Given the description of an element on the screen output the (x, y) to click on. 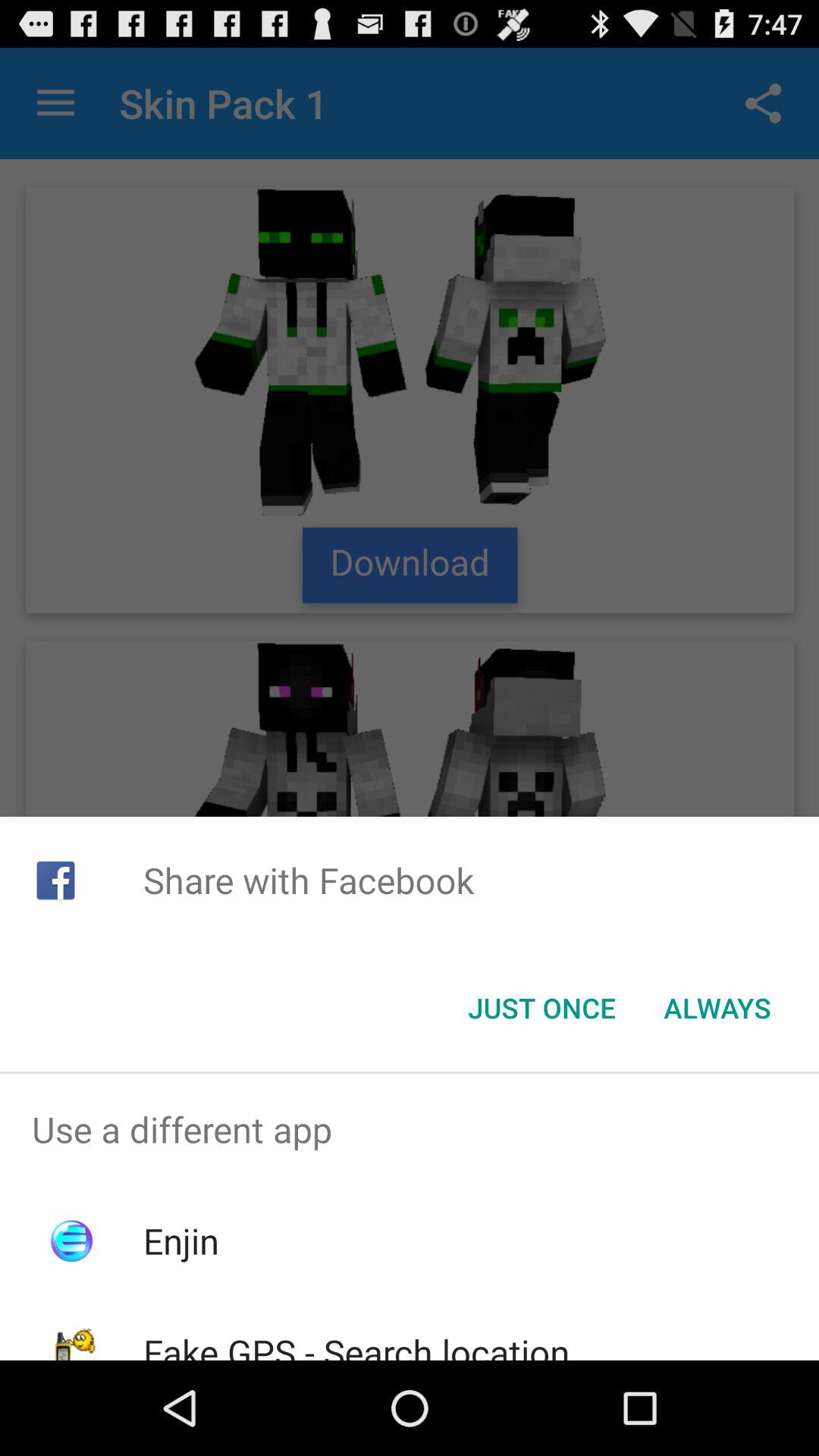
flip to the always item (717, 1007)
